Given the description of an element on the screen output the (x, y) to click on. 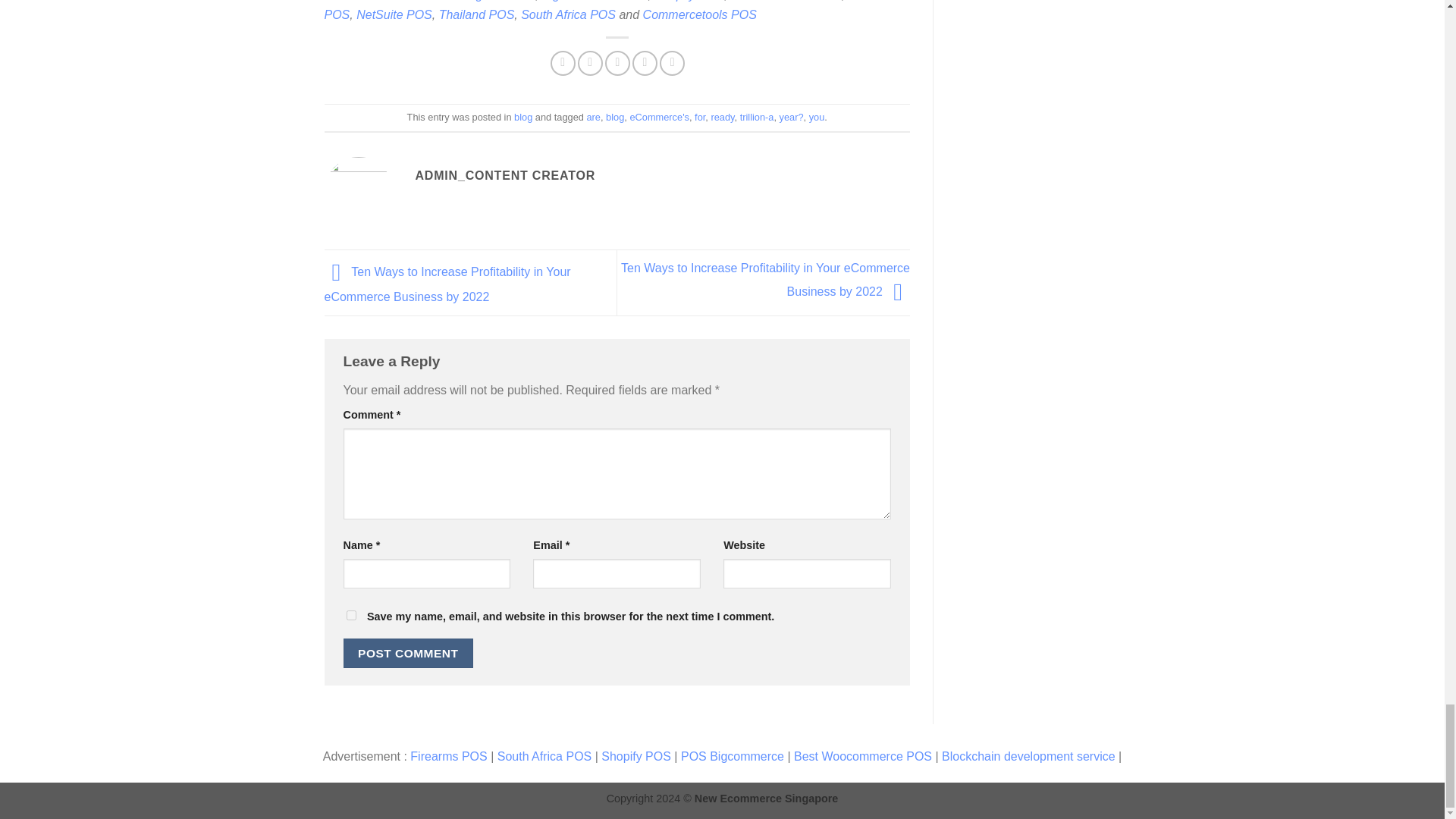
woocommerce pos (785, 0)
Bigcommerce pos (594, 0)
shopify pos (688, 0)
magento pos extension (497, 0)
yes (350, 614)
Post Comment (407, 653)
